Given the description of an element on the screen output the (x, y) to click on. 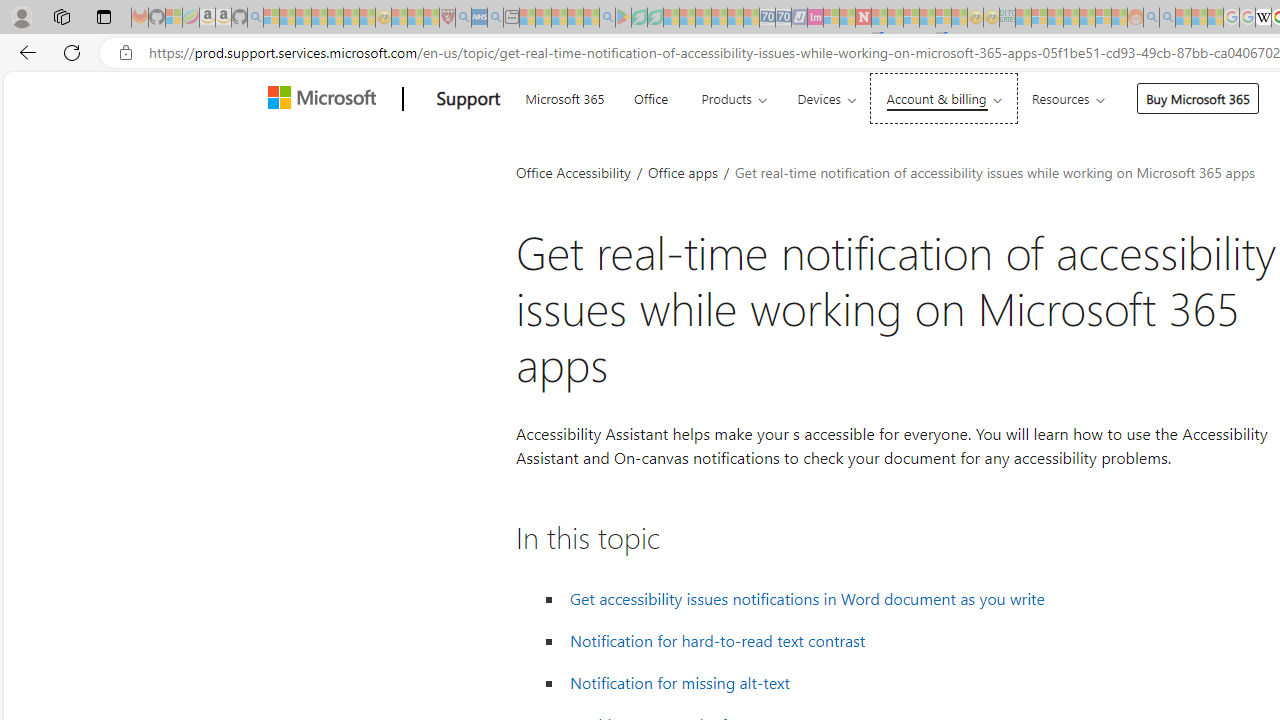
utah sues federal government - Search - Sleeping (495, 17)
Microsoft Start - Sleeping (1183, 17)
Cheap Car Rentals - Save70.com - Sleeping (767, 17)
Buy Microsoft 365 (1197, 98)
Bluey: Let's Play! - Apps on Google Play - Sleeping (623, 17)
Jobs - lastminute.com Investor Portal - Sleeping (815, 17)
Support (468, 99)
